Given the description of an element on the screen output the (x, y) to click on. 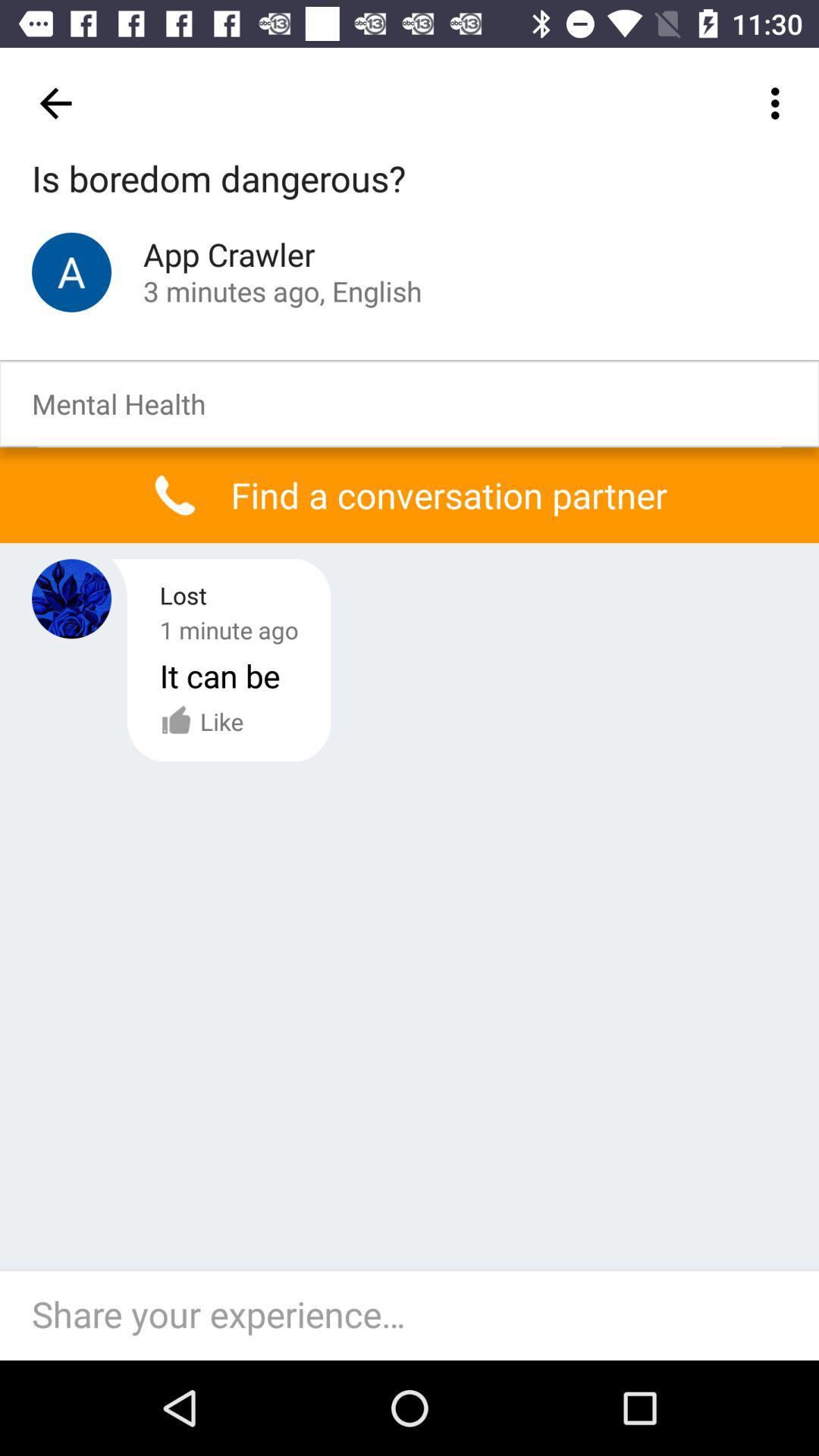
view user profile (71, 598)
